Given the description of an element on the screen output the (x, y) to click on. 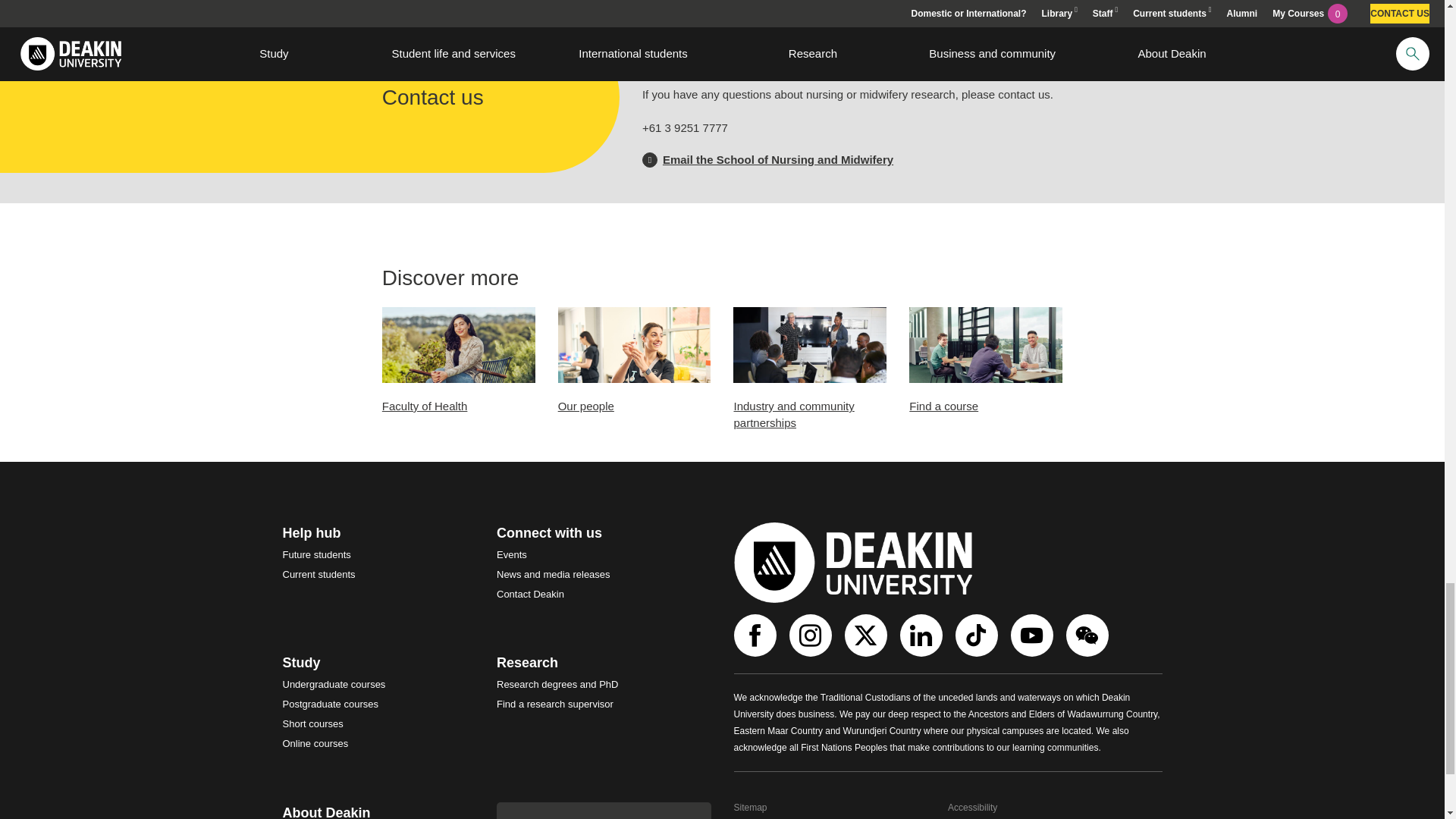
Youtube (1033, 635)
Instagram (811, 635)
TikTok (978, 635)
Facebook (756, 635)
Linkedin (921, 635)
Twitter (867, 635)
